Given the description of an element on the screen output the (x, y) to click on. 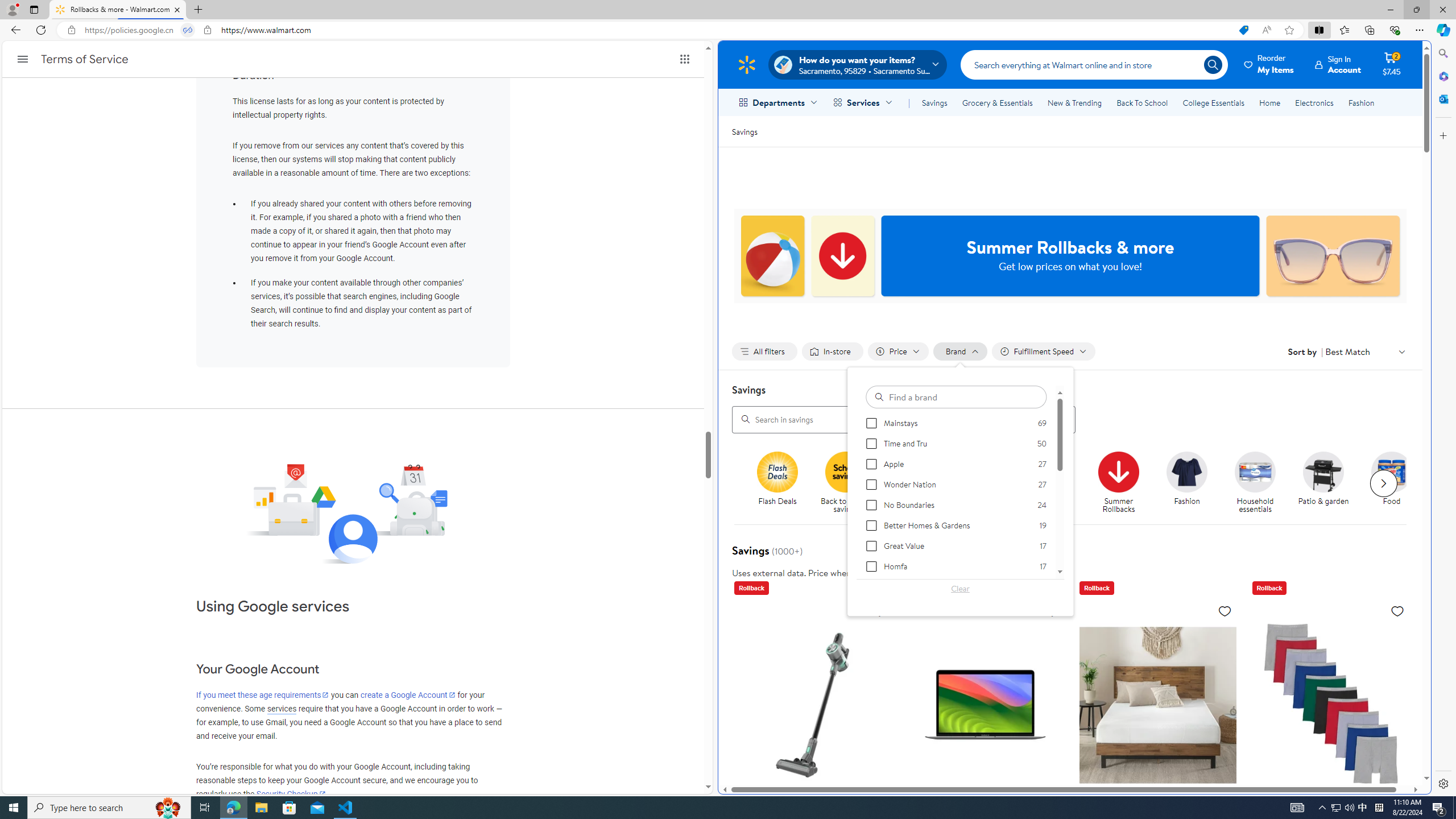
New & Trending (1075, 102)
Get it today (1050, 471)
Household essentials Household essentials (1254, 483)
Summer Rollbacks & more Get low prices on what you love! (1069, 255)
ReorderMy Items (1269, 64)
Walmart Homepage (746, 64)
Food Food (1391, 478)
Filter by Fulfillment Speed not applied, activate to change (1043, 351)
Zinus Spa Sensations Serenity 8" Memory Foam Mattress, Full (1157, 704)
